Given the description of an element on the screen output the (x, y) to click on. 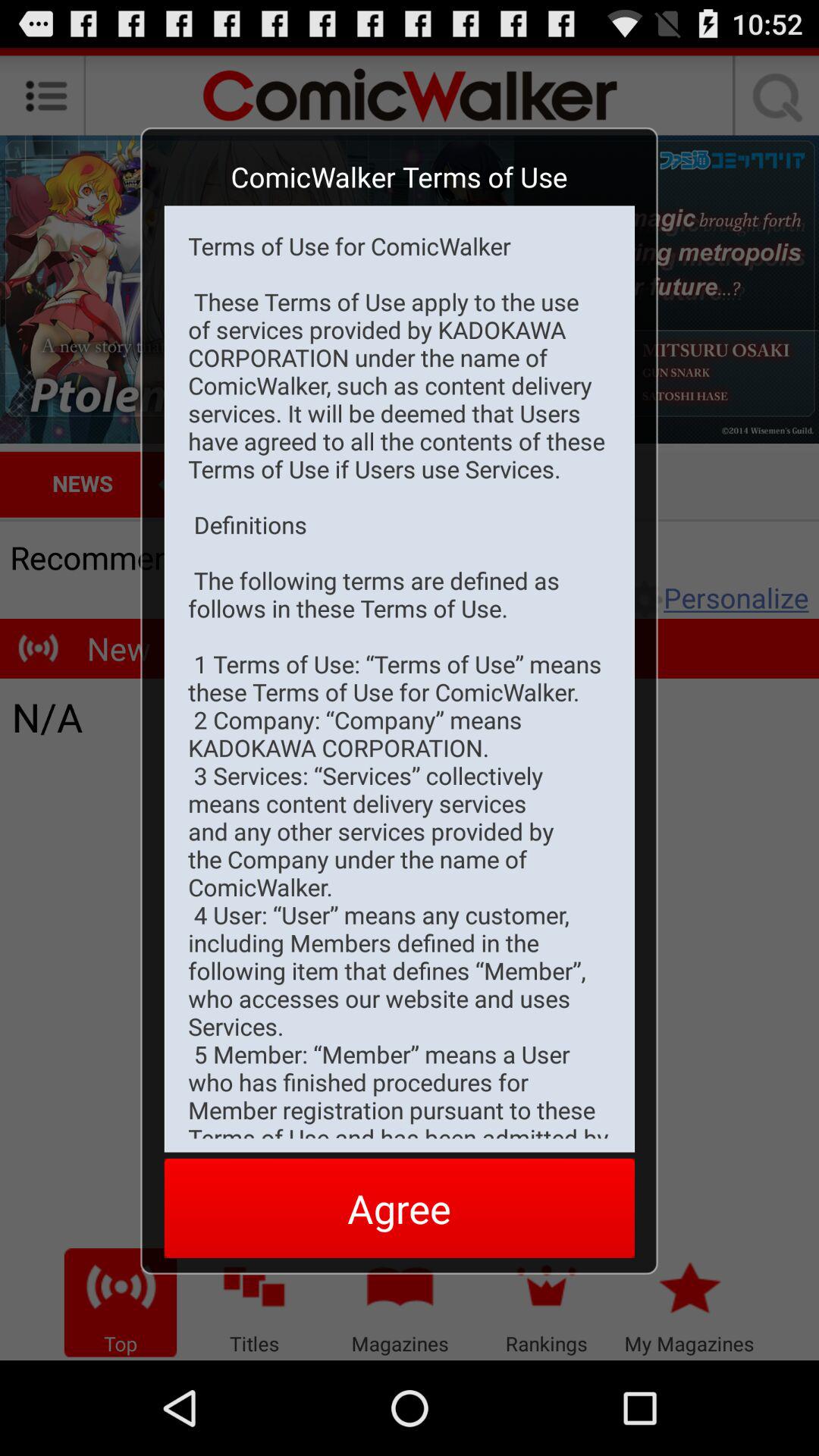
turn on item below terms of use item (399, 1208)
